Given the description of an element on the screen output the (x, y) to click on. 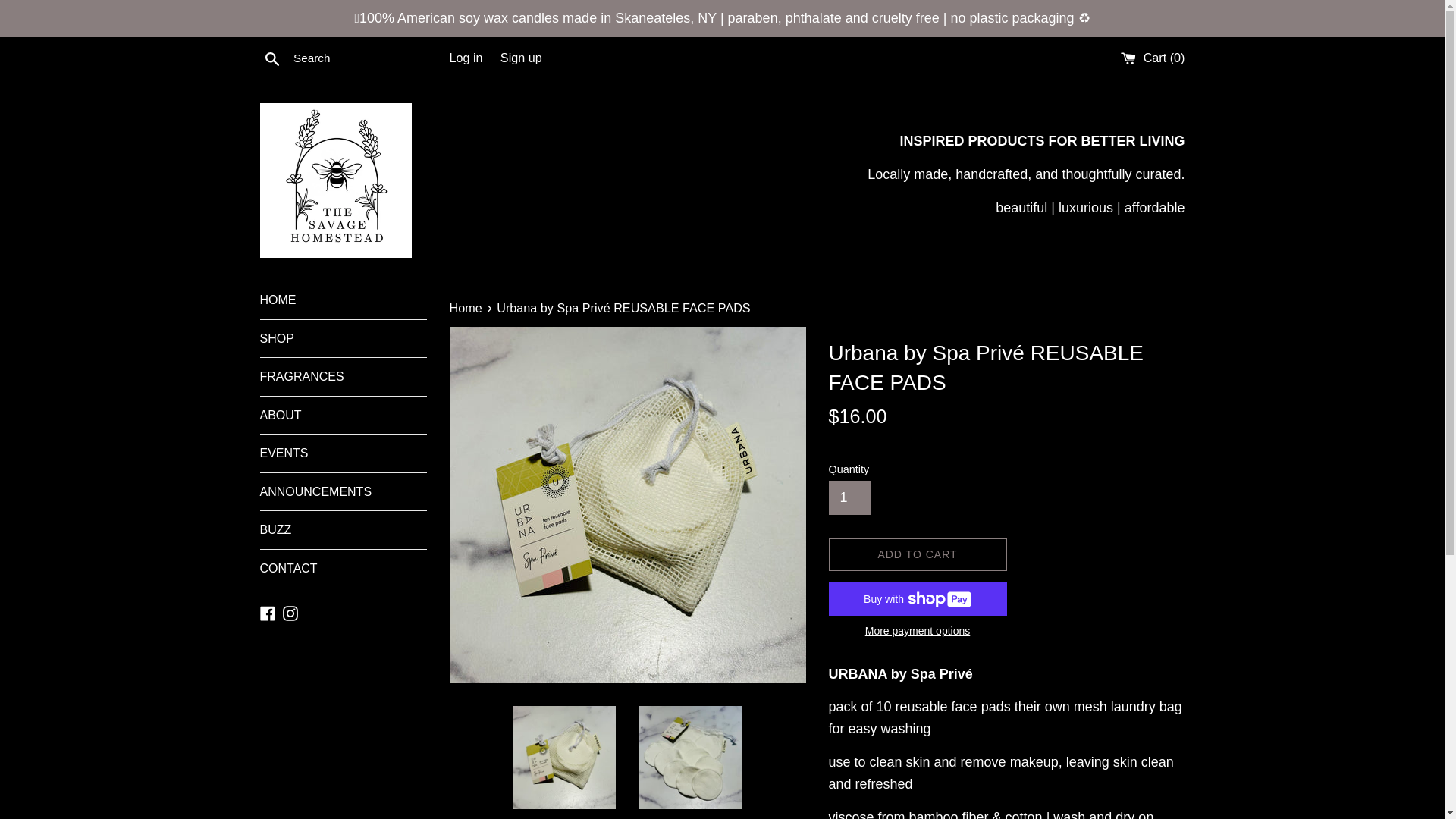
ABOUT (342, 415)
Facebook (267, 612)
EVENTS (342, 453)
1 (848, 497)
ADD TO CART (917, 554)
Instagram (290, 612)
More payment options (917, 630)
Back to the home page (466, 307)
The Savage Homestead on Facebook (267, 612)
HOME (342, 300)
ANNOUNCEMENTS (342, 492)
The Savage Homestead on Instagram (290, 612)
Log in (464, 57)
Search (271, 57)
CONTACT (342, 568)
